Given the description of an element on the screen output the (x, y) to click on. 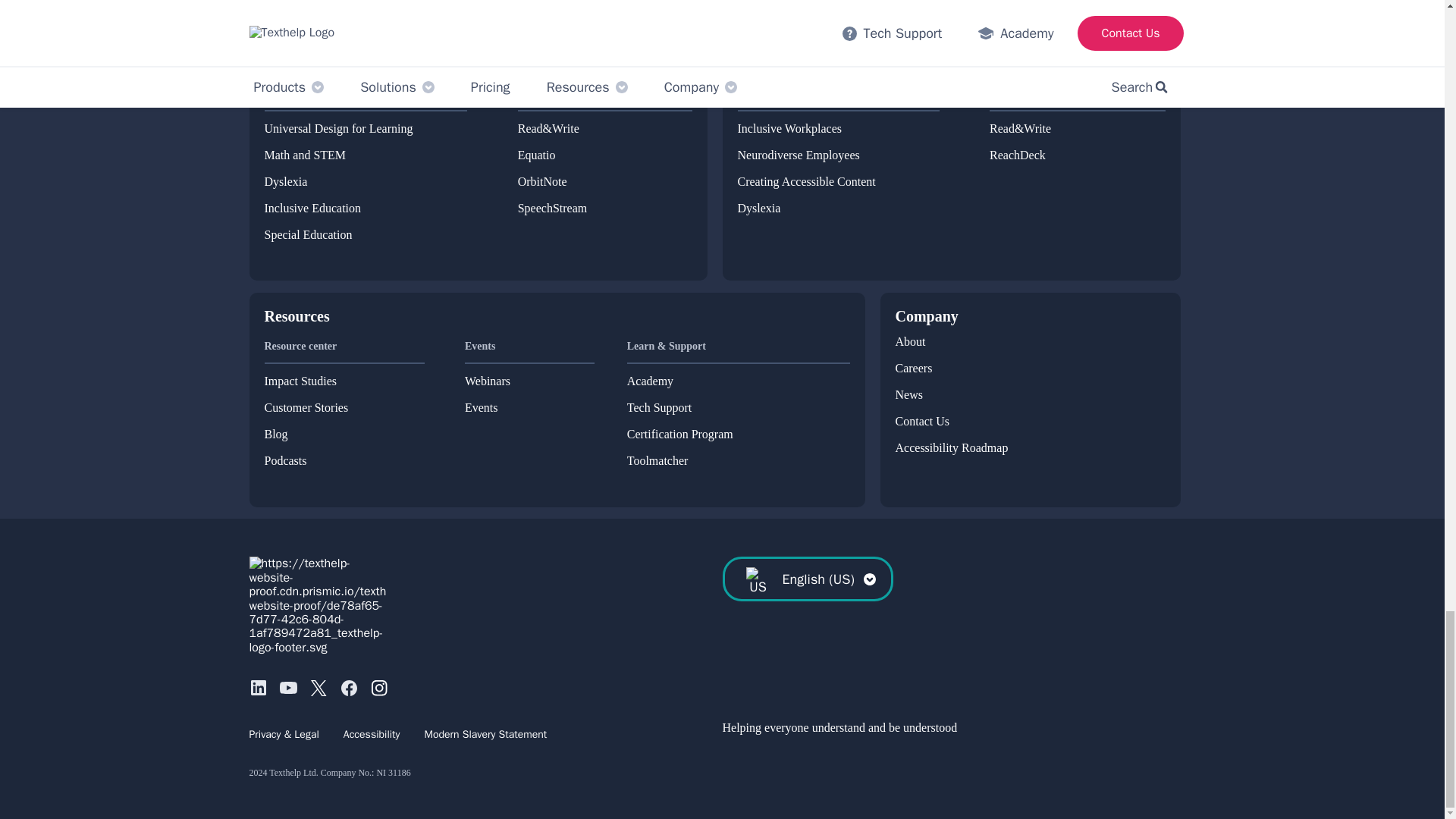
OrbitNote (542, 182)
Webinars (487, 381)
Inclusive Workplaces (788, 128)
Impact Studies (299, 381)
Podcasts (284, 460)
Customer Stories (305, 407)
SpeechStream (553, 208)
Blog (274, 434)
Dyslexia (285, 182)
Neurodiverse Employees (797, 155)
